Given the description of an element on the screen output the (x, y) to click on. 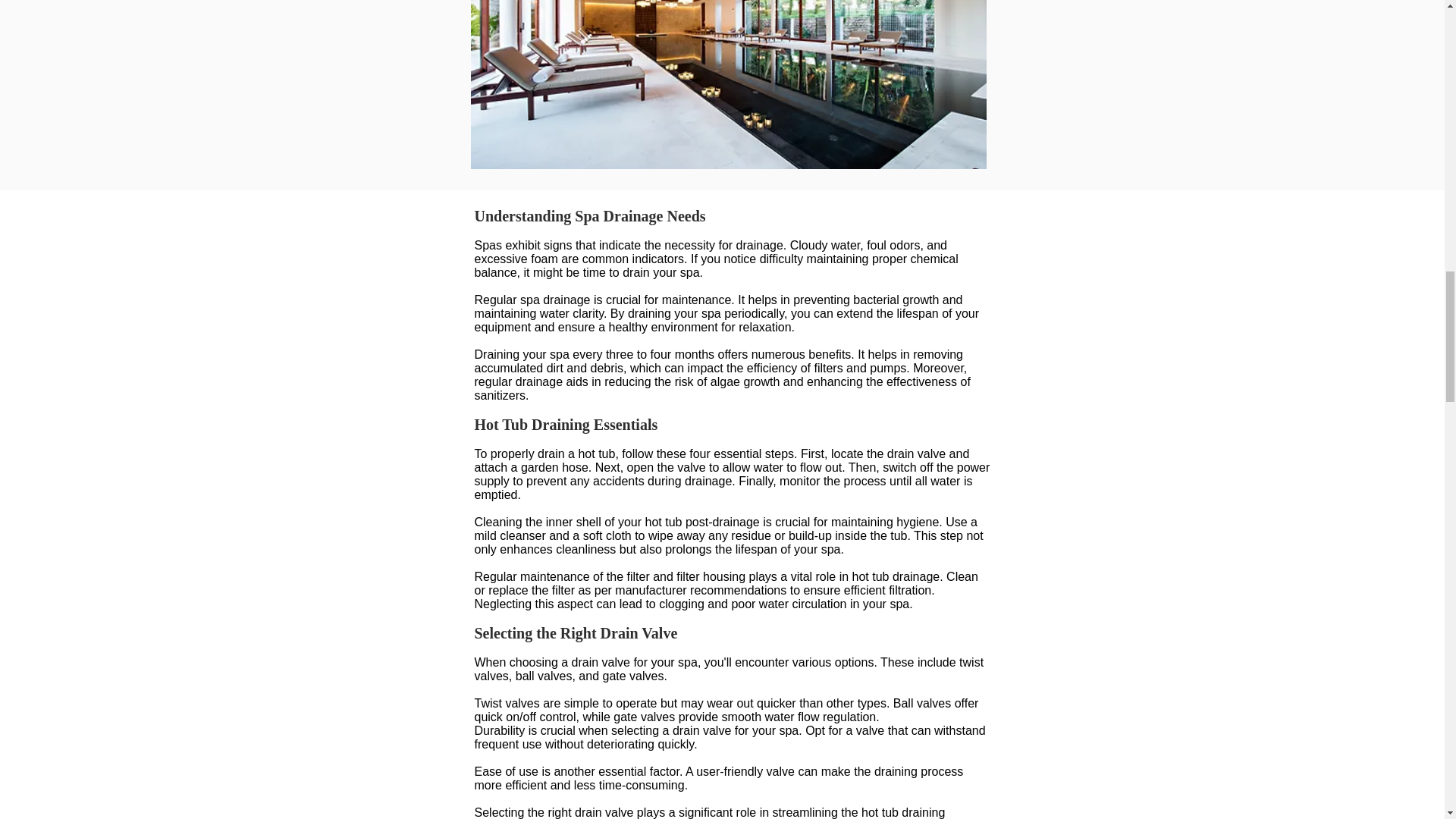
Beautiful Spa Pool.jpg (727, 84)
